Given the description of an element on the screen output the (x, y) to click on. 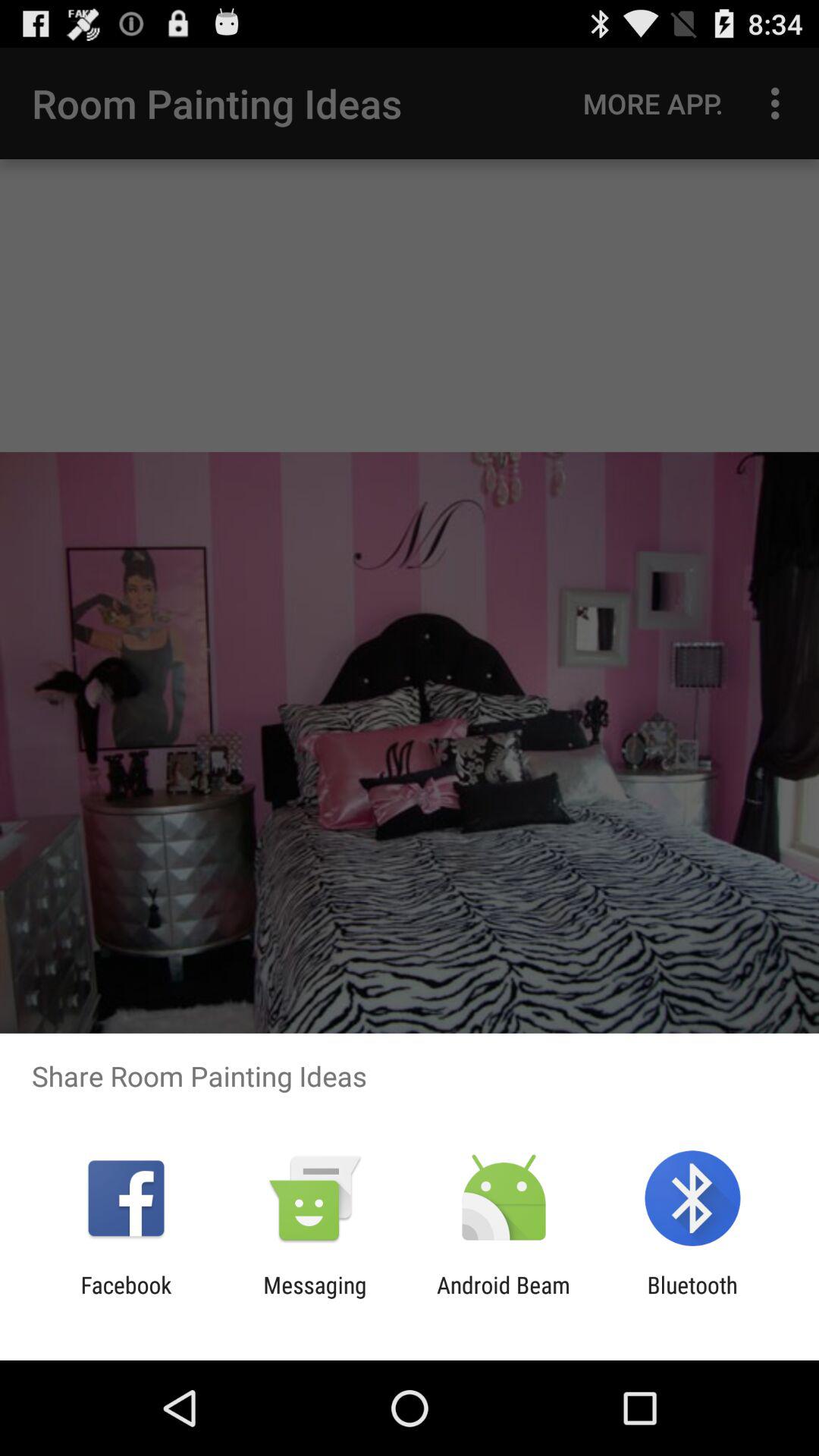
swipe until the facebook (125, 1298)
